Given the description of an element on the screen output the (x, y) to click on. 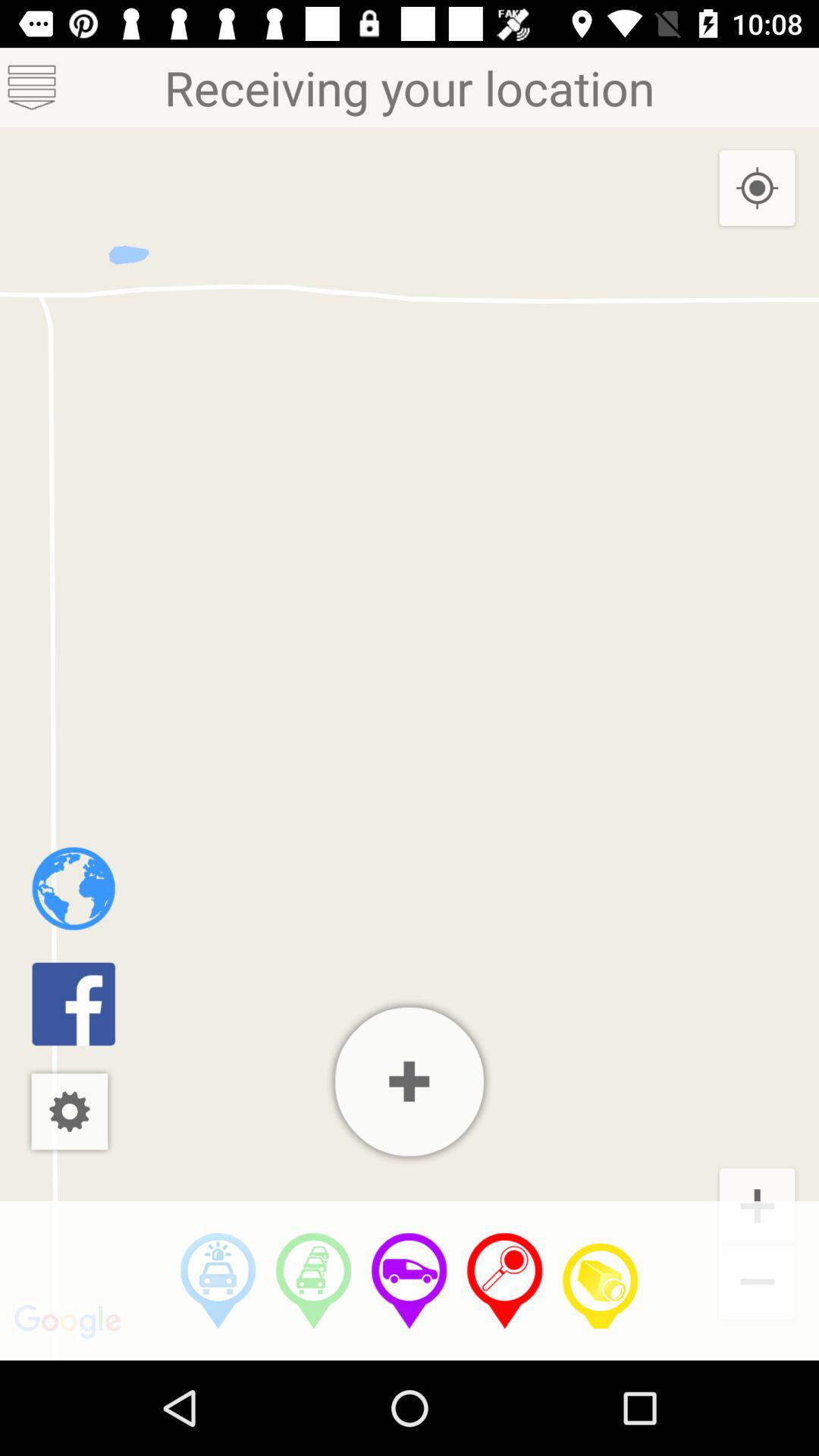
change location (504, 1280)
